Given the description of an element on the screen output the (x, y) to click on. 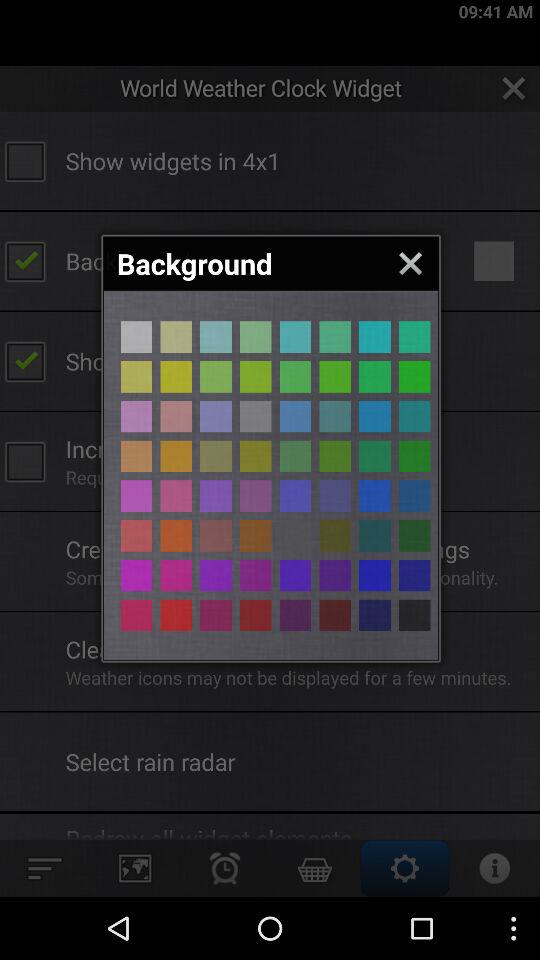
change background color (414, 456)
